Given the description of an element on the screen output the (x, y) to click on. 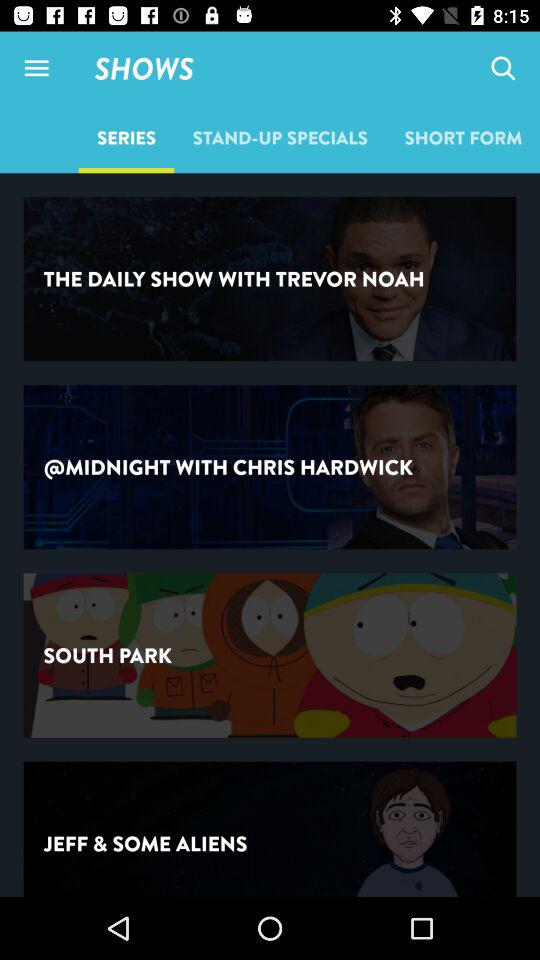
more options (36, 68)
